Given the description of an element on the screen output the (x, y) to click on. 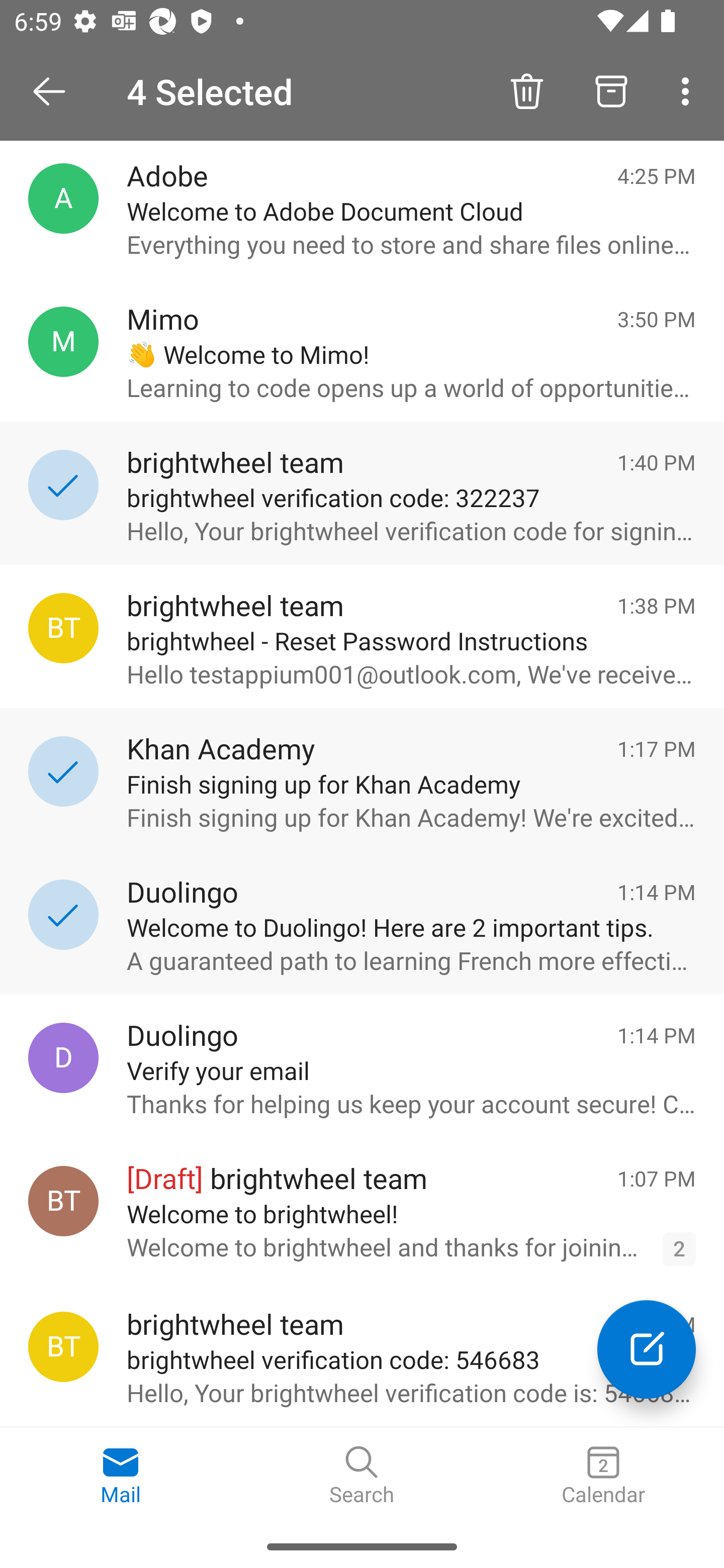
Delete (526, 90)
Archive (611, 90)
More options (688, 90)
Open Navigation Drawer (55, 91)
Adobe, message@adobe.com (63, 198)
Mimo, support@getmimo.com (63, 341)
brightwheel team, recovery@mybrightwheel.com (63, 627)
Duolingo, hello@duolingo.com (63, 1057)
brightwheel team, welcome@mybrightwheel.com (63, 1200)
Compose (646, 1348)
brightwheel team, recovery@mybrightwheel.com (63, 1346)
Search (361, 1475)
Calendar (603, 1475)
